Given the description of an element on the screen output the (x, y) to click on. 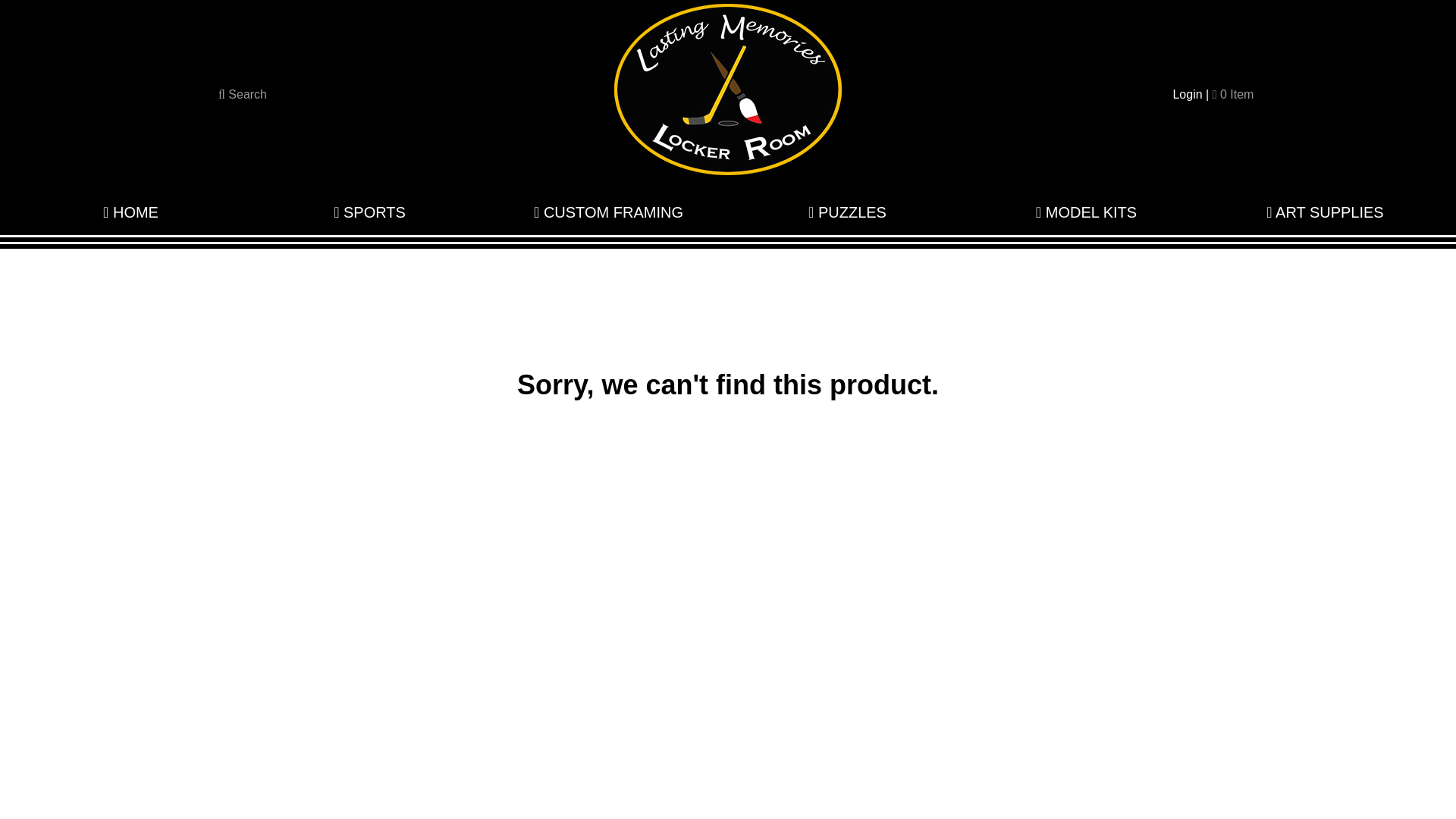
HOME (130, 211)
Search (242, 93)
PUZZLES (847, 211)
SPORTS (369, 211)
ART SUPPLIES (1324, 211)
CUSTOM FRAMING (608, 211)
MODEL KITS (1086, 211)
0 Item (1232, 93)
